Given the description of an element on the screen output the (x, y) to click on. 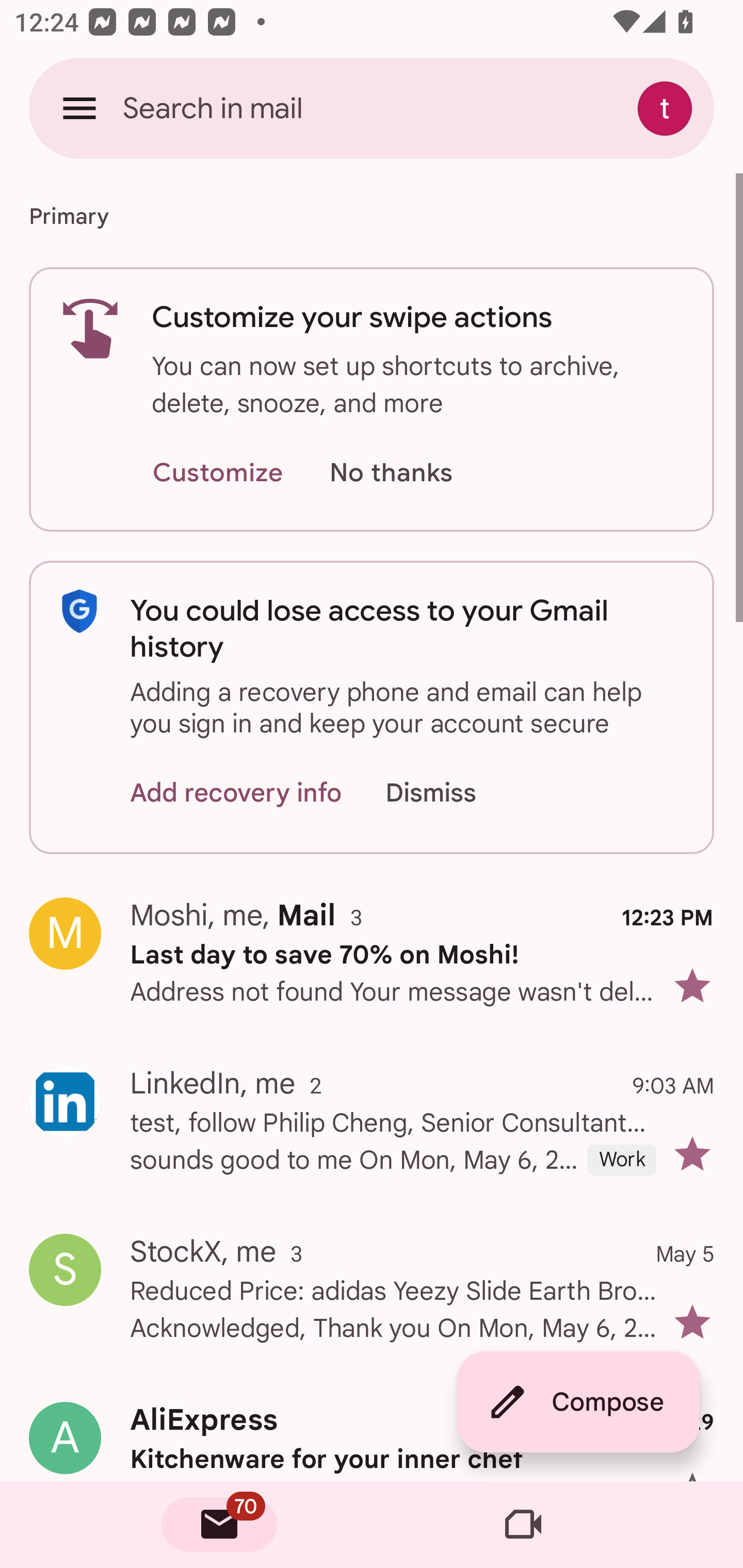
Open navigation drawer (79, 108)
Customize (217, 473)
No thanks (390, 473)
Add recovery info (235, 792)
Dismiss (449, 792)
Compose (577, 1401)
Meet (523, 1524)
